Given the description of an element on the screen output the (x, y) to click on. 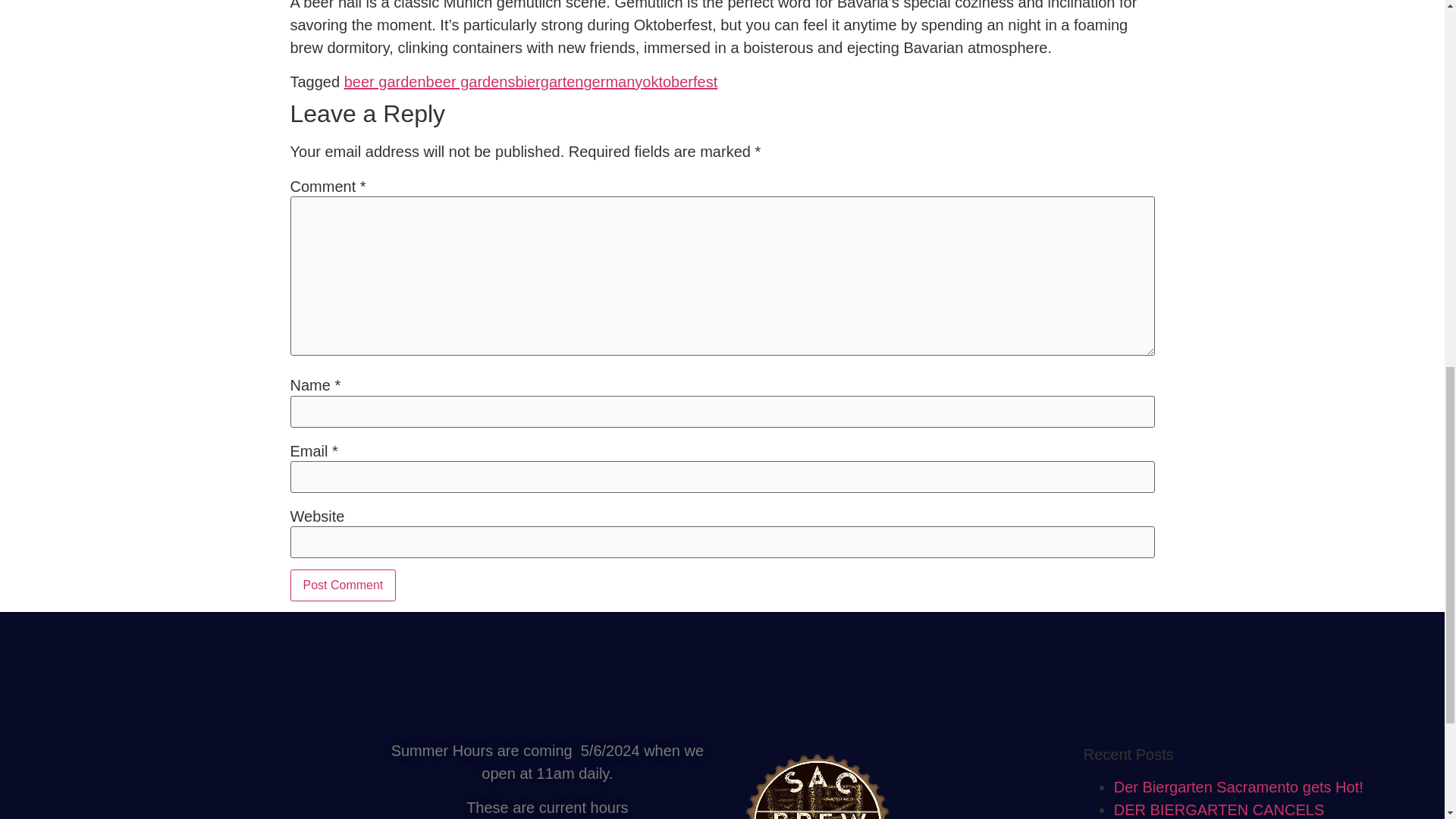
beer garden (384, 81)
germany (612, 81)
biergarten (549, 81)
2332 k st, sacramento, ca 95816, usa (197, 779)
beer gardens (470, 81)
Der Biergarten Sacramento gets Hot! (1237, 786)
Post Comment (342, 585)
Post Comment (342, 585)
oktoberfest (679, 81)
